Given the description of an element on the screen output the (x, y) to click on. 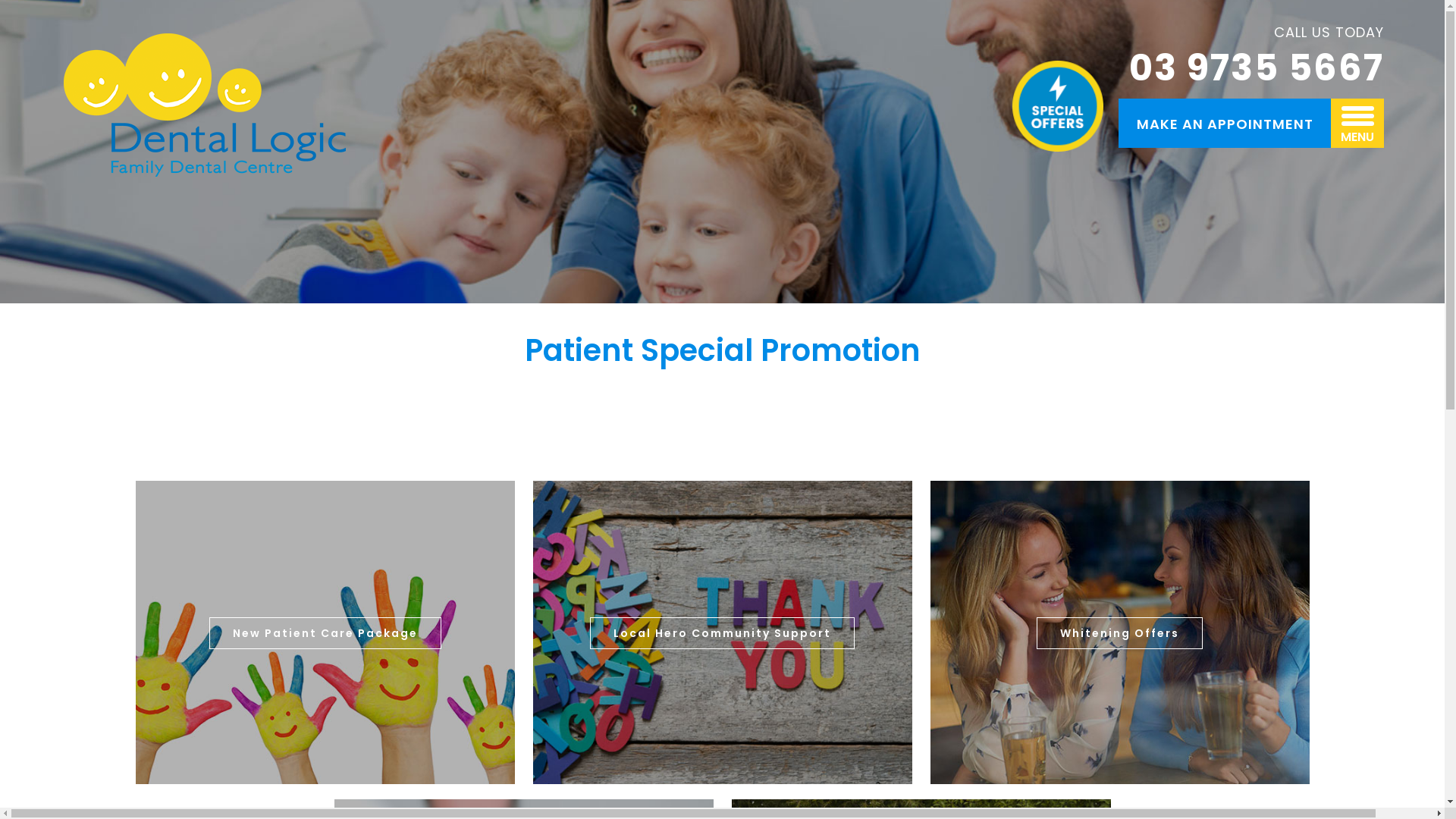
Whitening Offers Element type: text (1119, 632)
New Patient Care Package Element type: text (325, 632)
Whitening Offers Element type: text (1119, 633)
New Patient Care Package Element type: text (325, 633)
03 9735 5667 Element type: text (1256, 68)
Local Hero Community Support Element type: text (721, 632)
Local Hero Community Support Element type: text (721, 633)
MAKE AN APPOINTMENT Element type: text (1224, 122)
